Given the description of an element on the screen output the (x, y) to click on. 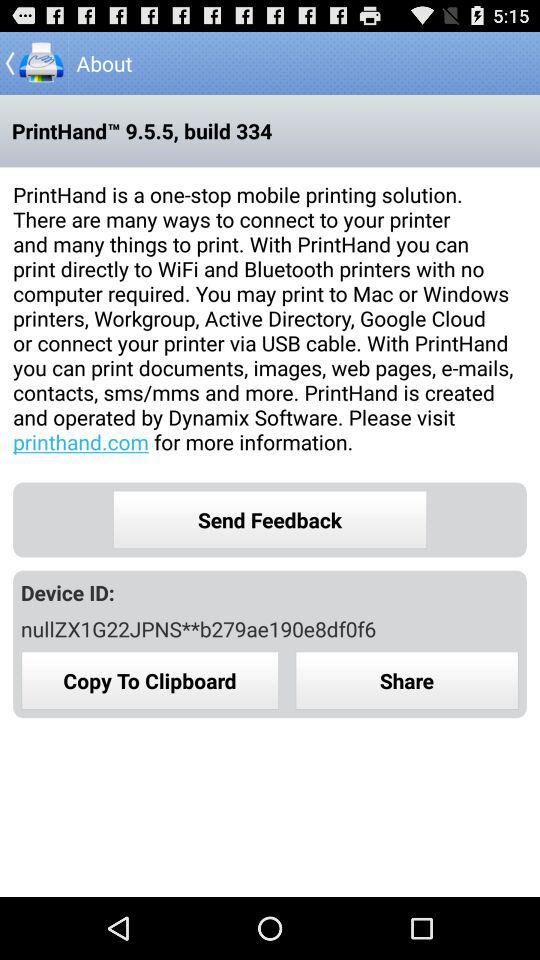
swipe to printhand is a icon (270, 317)
